Given the description of an element on the screen output the (x, y) to click on. 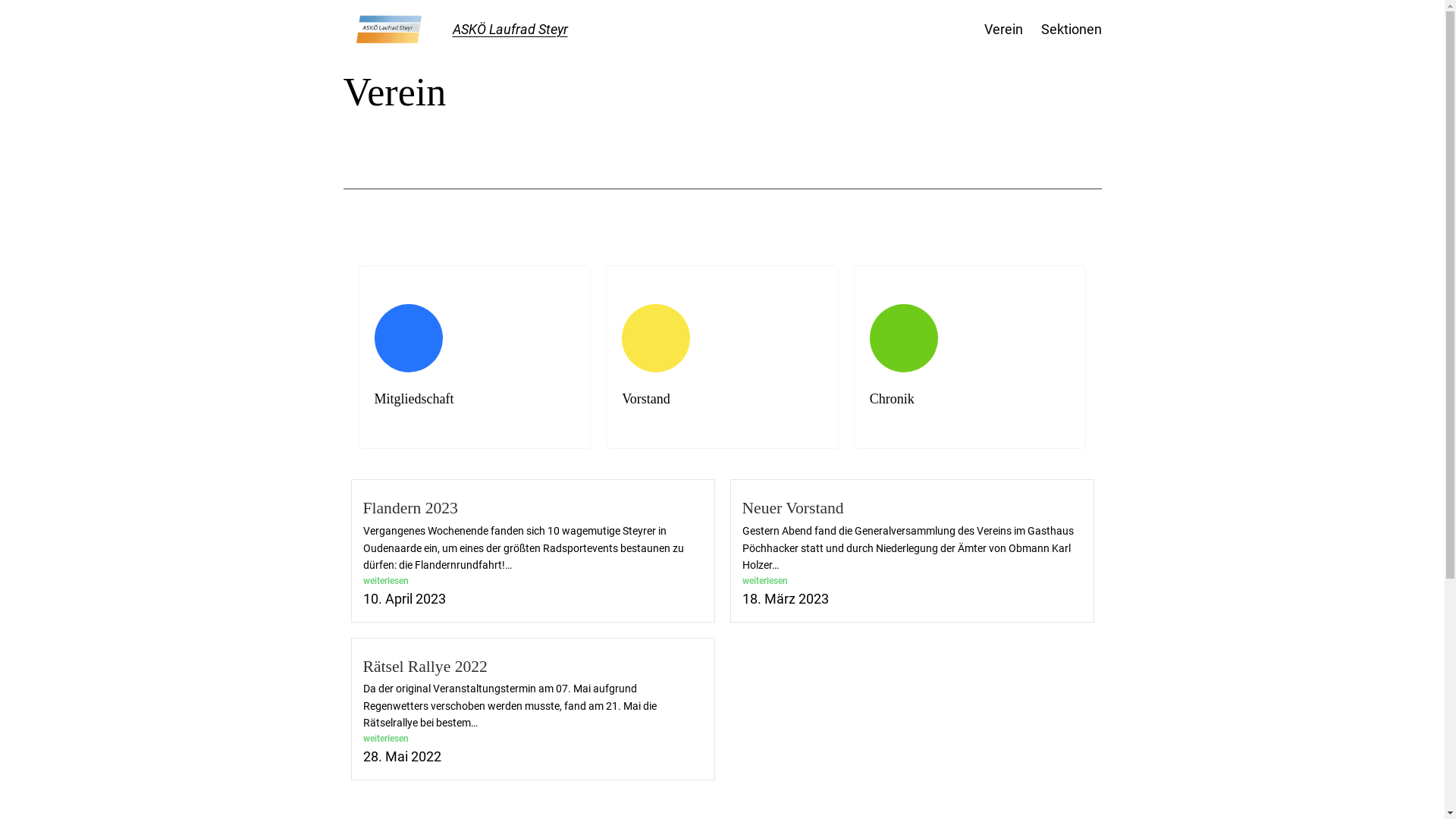
Chronik Element type: text (969, 357)
Flandern 2023 Element type: text (409, 507)
Neuer Vorstand Element type: text (792, 507)
weiterlesen Element type: text (532, 581)
weiterlesen Element type: text (911, 581)
Mitgliedschaft Element type: text (473, 357)
weiterlesen Element type: text (532, 738)
Sektionen Element type: text (1070, 29)
Verein Element type: text (1003, 29)
Vorstand Element type: text (721, 357)
